Given the description of an element on the screen output the (x, y) to click on. 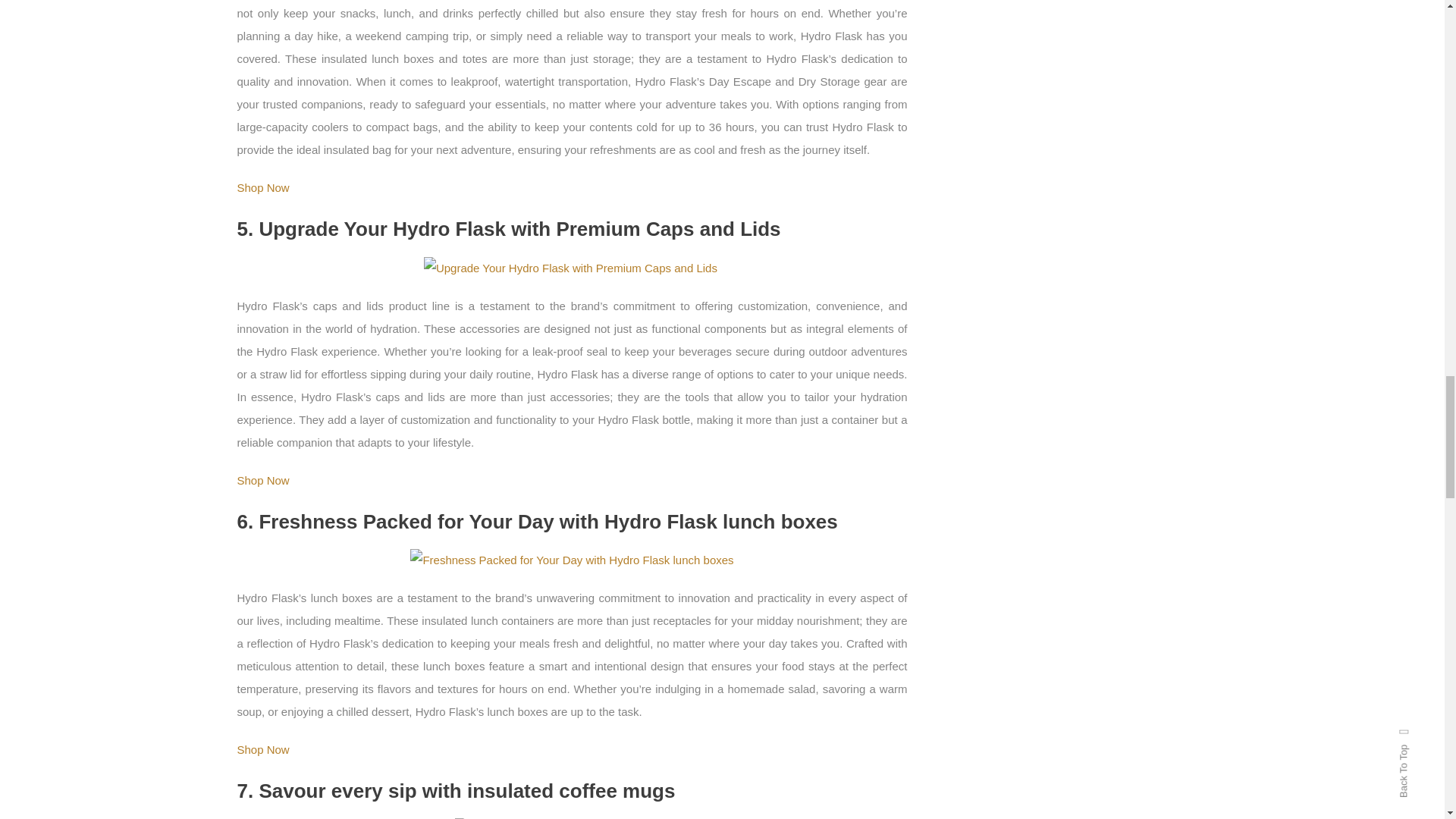
Shop Now (261, 187)
Shop Now (261, 479)
Shop Now (261, 748)
